Given the description of an element on the screen output the (x, y) to click on. 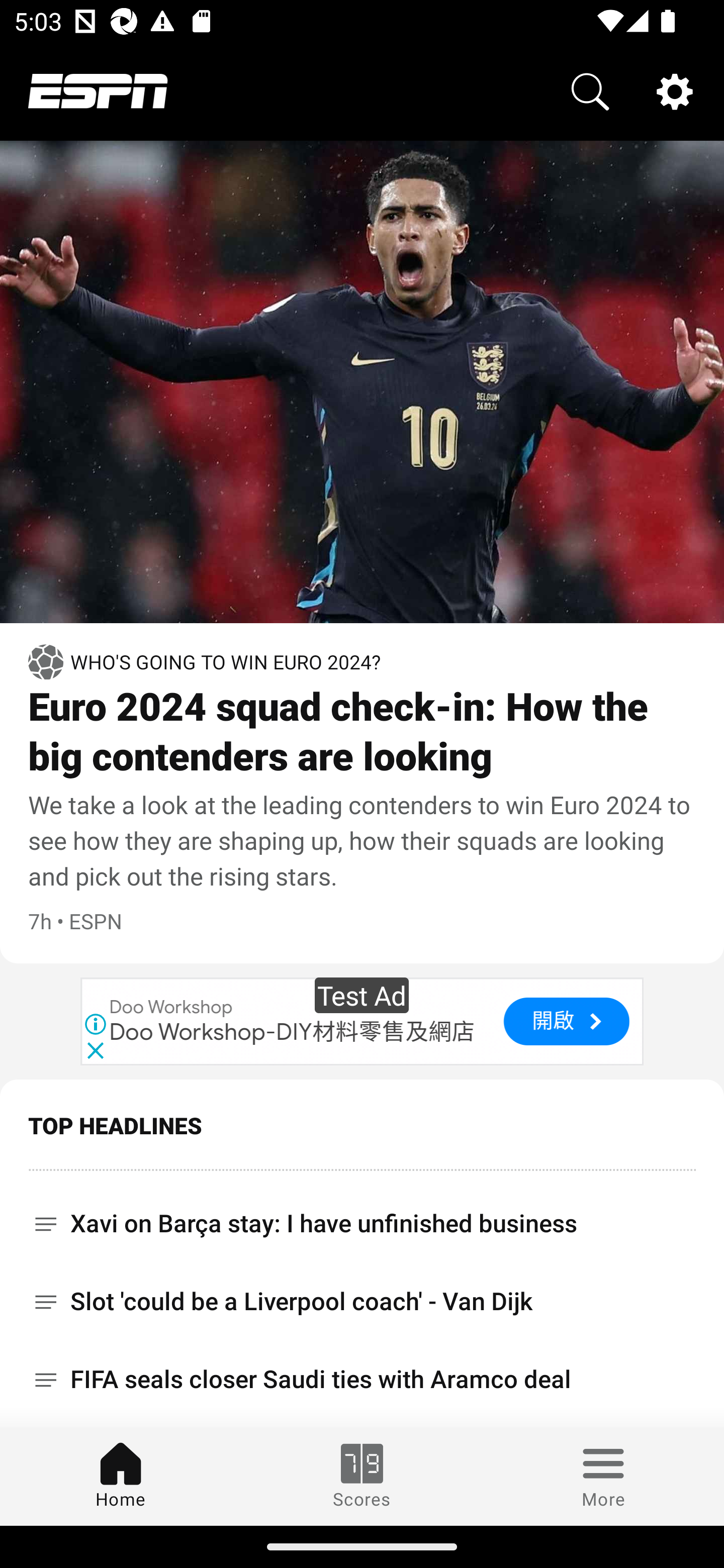
Search (590, 90)
Settings (674, 90)
 Xavi on Barça stay: I have unfinished business (362, 1128)
 Slot 'could be a Liverpool coach' - Van Dijk (362, 1213)
 FIFA seals closer Saudi ties with Aramco deal (362, 1291)
Scores (361, 1475)
More (603, 1475)
